Given the description of an element on the screen output the (x, y) to click on. 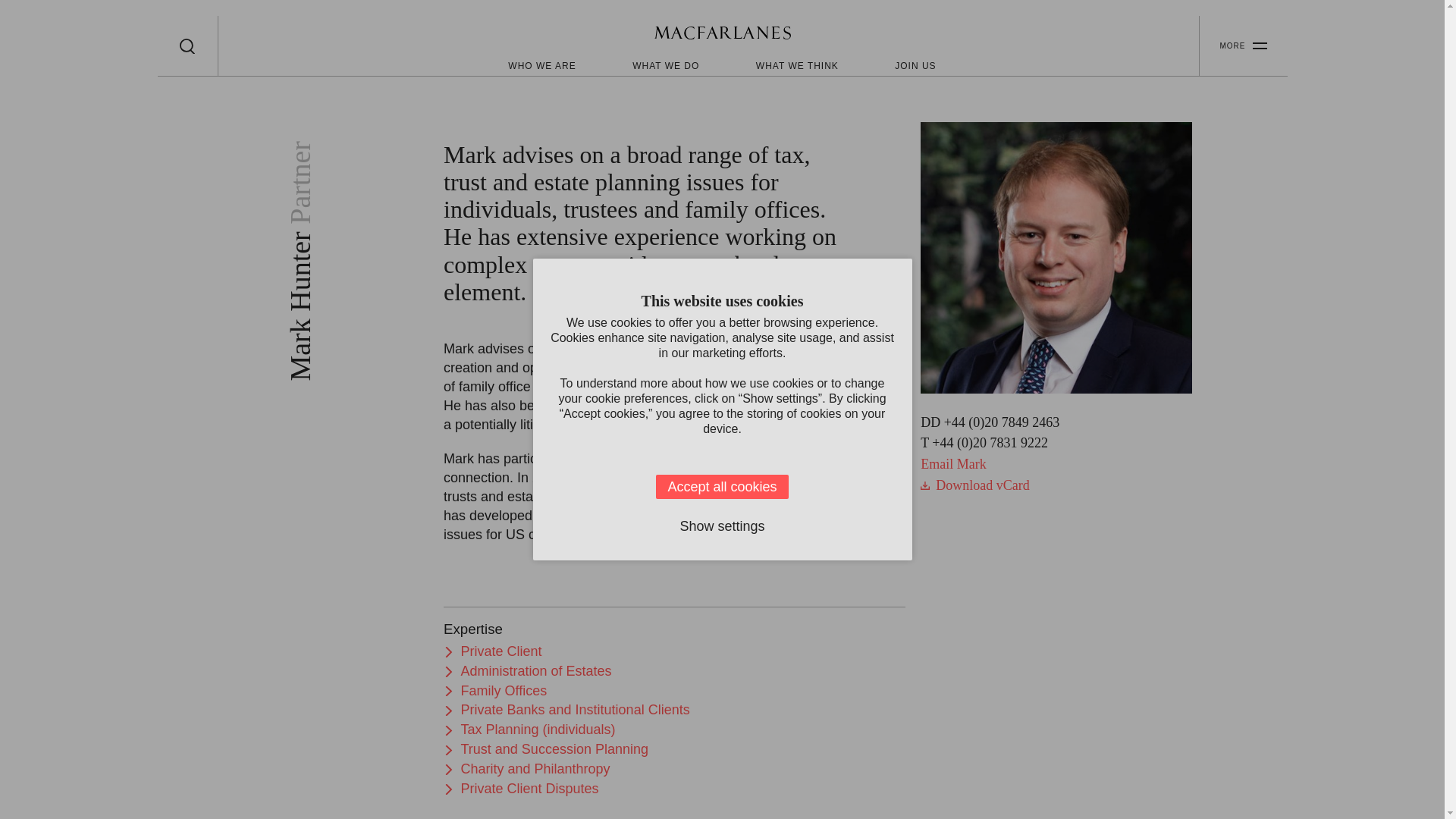
WHO WE ARE (541, 65)
WHAT WE THINK (796, 65)
Search (187, 46)
WHAT WE DO (664, 65)
MACFARLANES (721, 35)
